Given the description of an element on the screen output the (x, y) to click on. 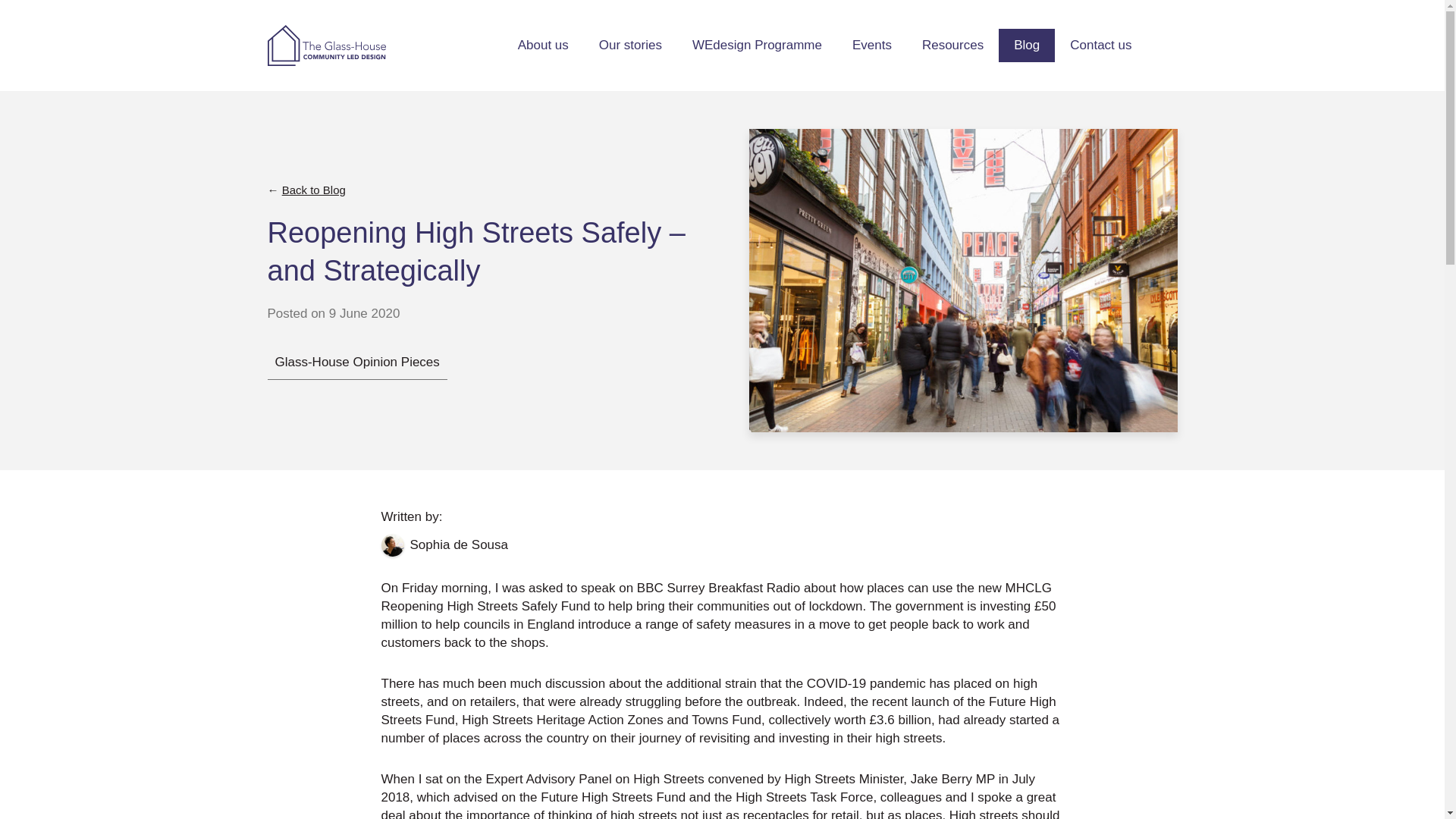
View posts in Glass-House Opinion Pieces (356, 362)
Contact us (1100, 45)
WEdesign Programme (757, 45)
Back to Blog (314, 189)
Our stories (630, 45)
Go back to The Glass-House homepage (325, 45)
Events (872, 45)
Blog (1026, 45)
Resources (952, 45)
About us (542, 45)
